Given the description of an element on the screen output the (x, y) to click on. 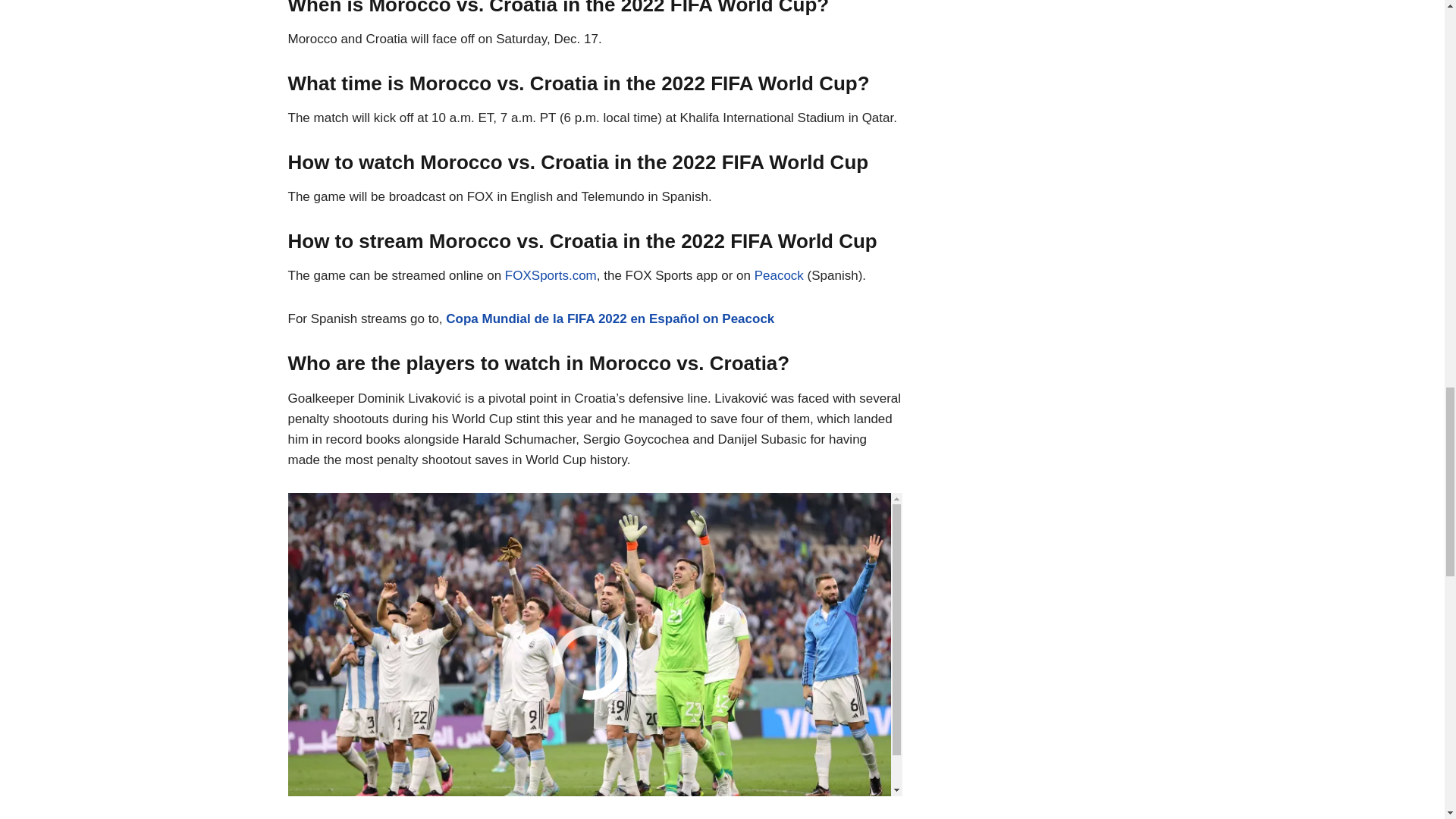
FOXSports.com (550, 275)
Peacock (778, 275)
